Given the description of an element on the screen output the (x, y) to click on. 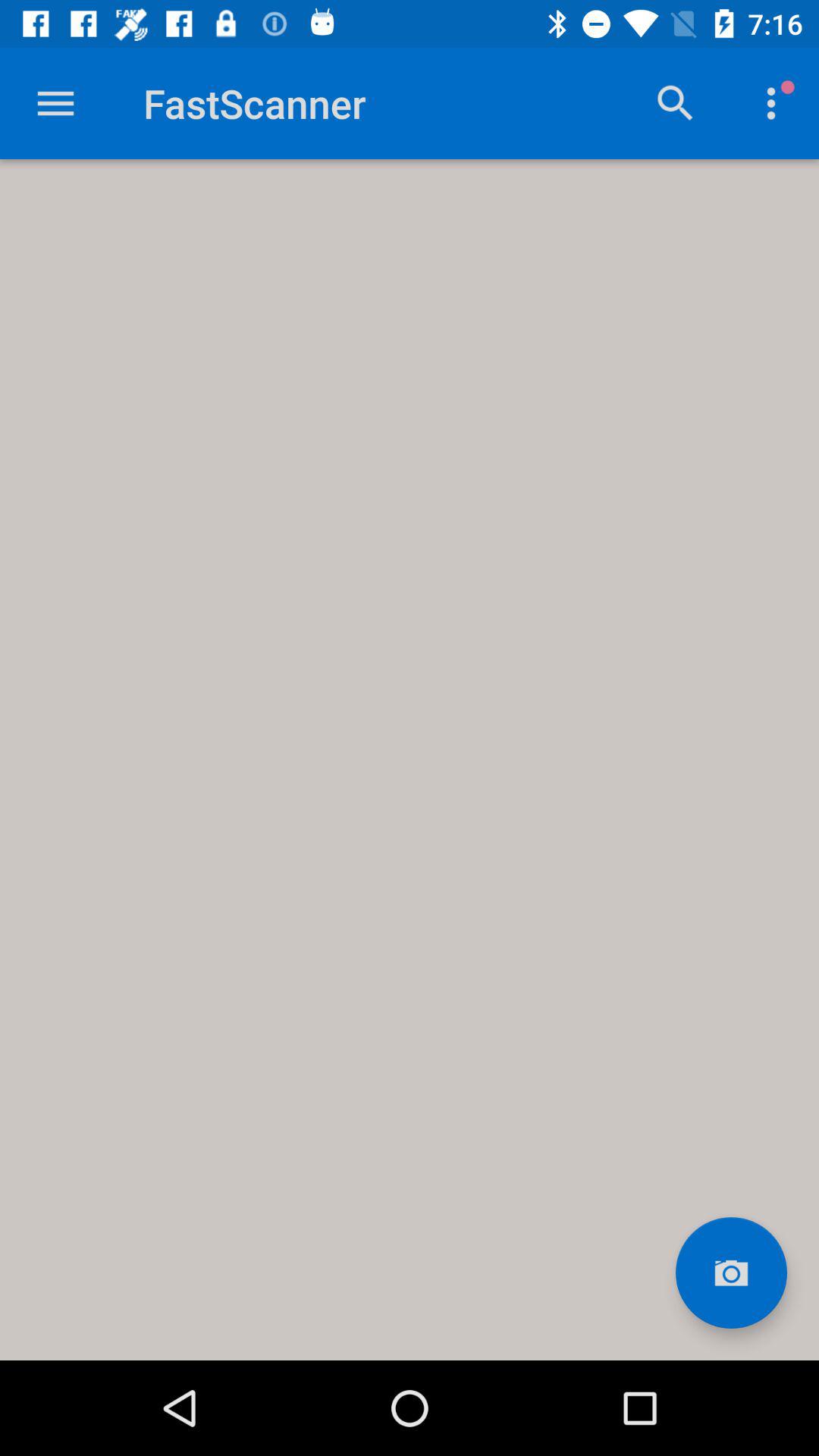
search button (675, 103)
